Given the description of an element on the screen output the (x, y) to click on. 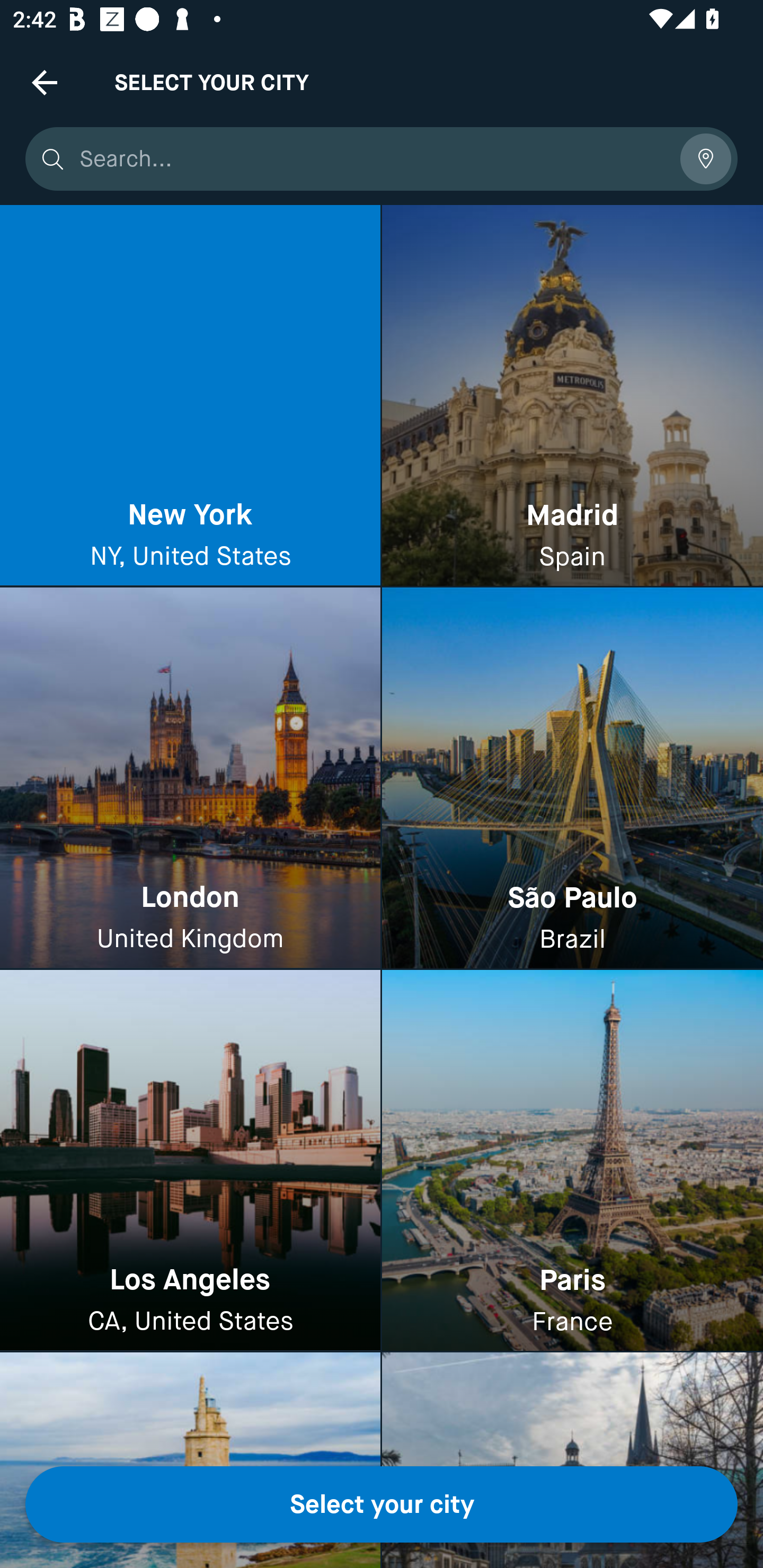
Navigate up (44, 82)
Search... (373, 159)
New York NY, United States (190, 395)
Madrid Spain (572, 395)
London United Kingdom (190, 778)
São Paulo Brazil (572, 778)
Los Angeles CA, United States (190, 1160)
Paris France (572, 1160)
Select your city (381, 1504)
